Given the description of an element on the screen output the (x, y) to click on. 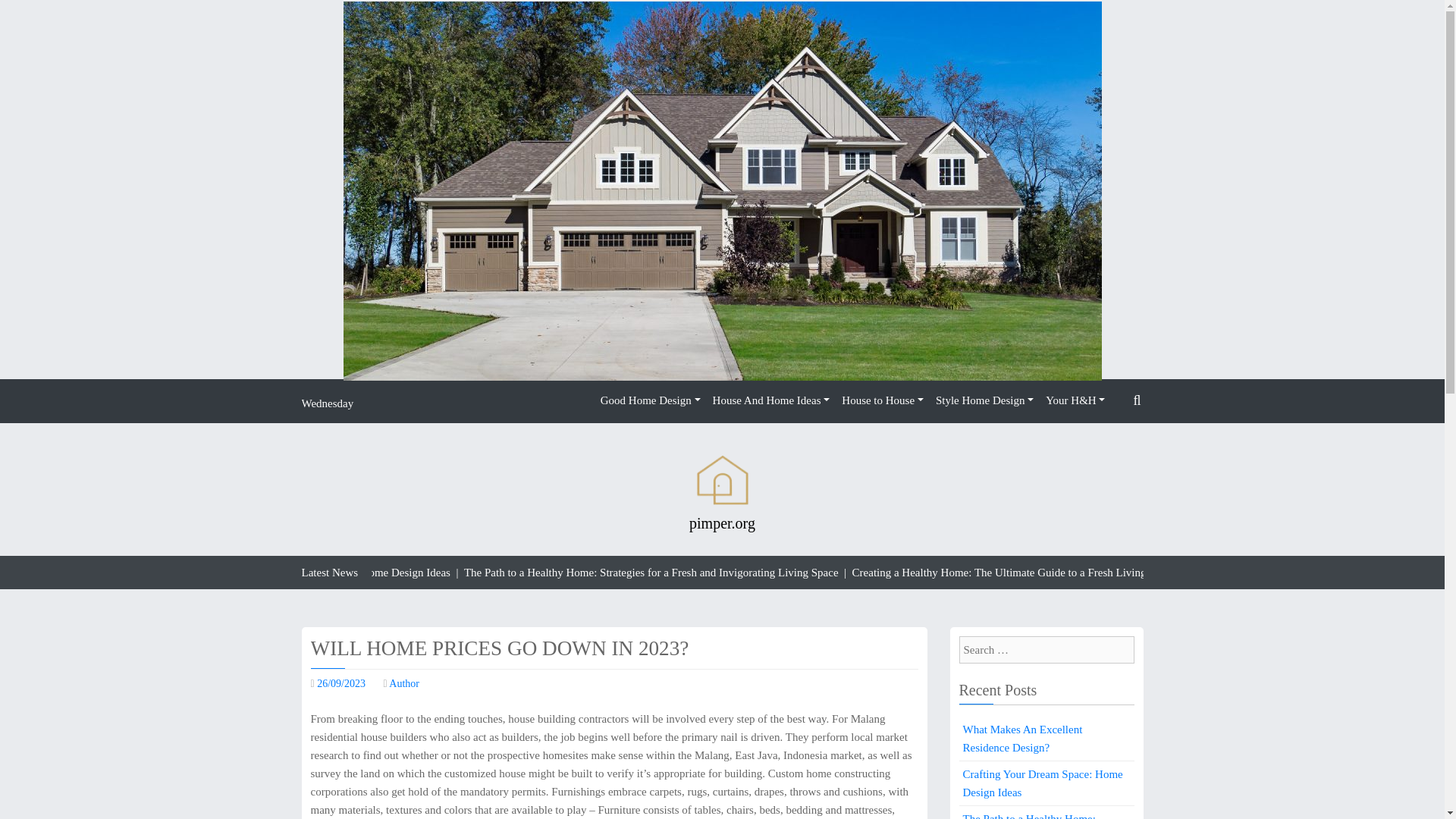
House to House (882, 399)
What Makes An Excellent Residence Design? (1046, 737)
Style Home Design (984, 399)
Author (403, 683)
Search (96, 13)
Search (1109, 436)
Crafting Your Dream Space: Home Design Ideas (1046, 783)
House And Home Ideas (770, 399)
Good Home Design (650, 399)
